Given the description of an element on the screen output the (x, y) to click on. 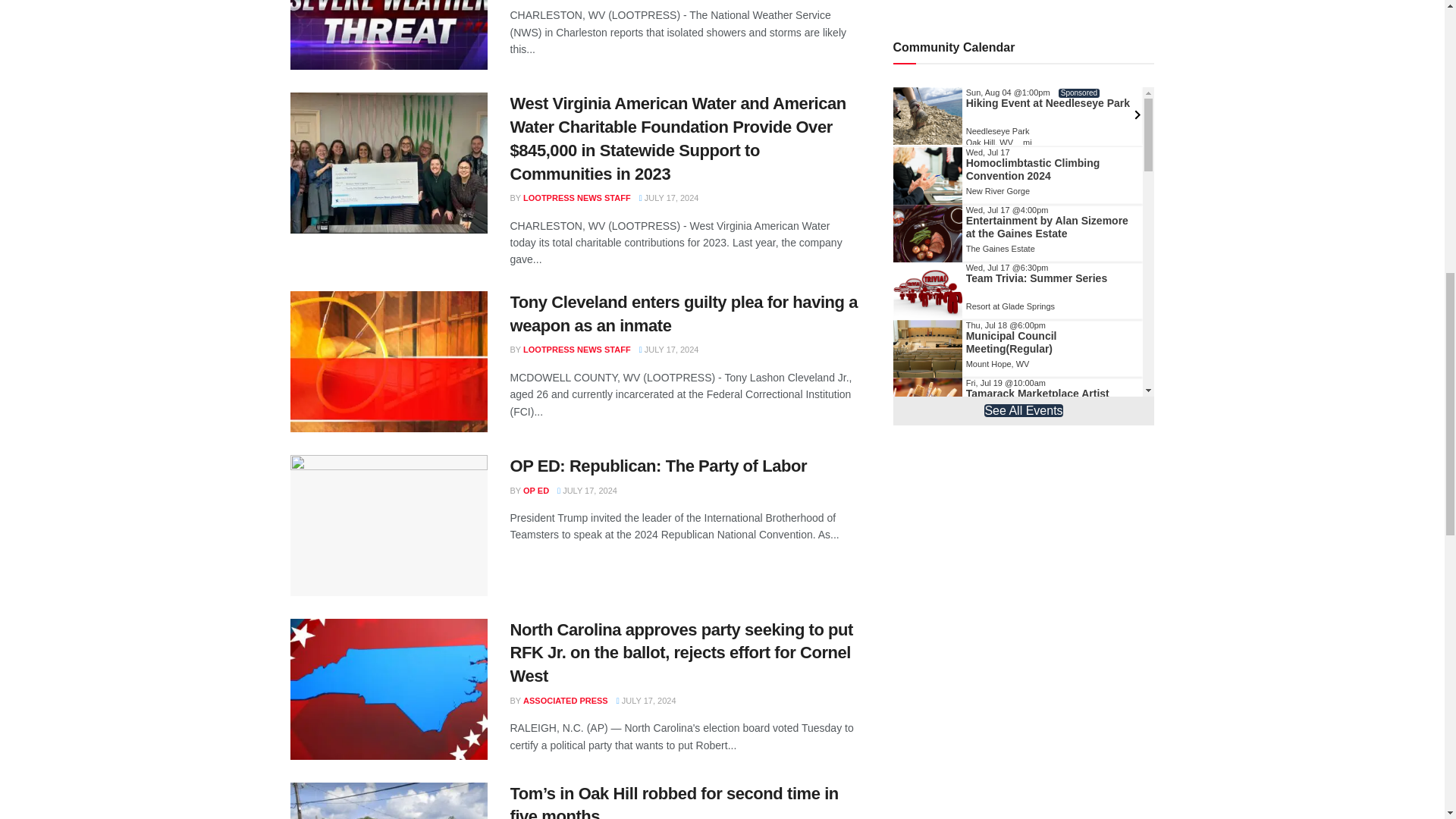
3rd party ad content (1023, 569)
